Given the description of an element on the screen output the (x, y) to click on. 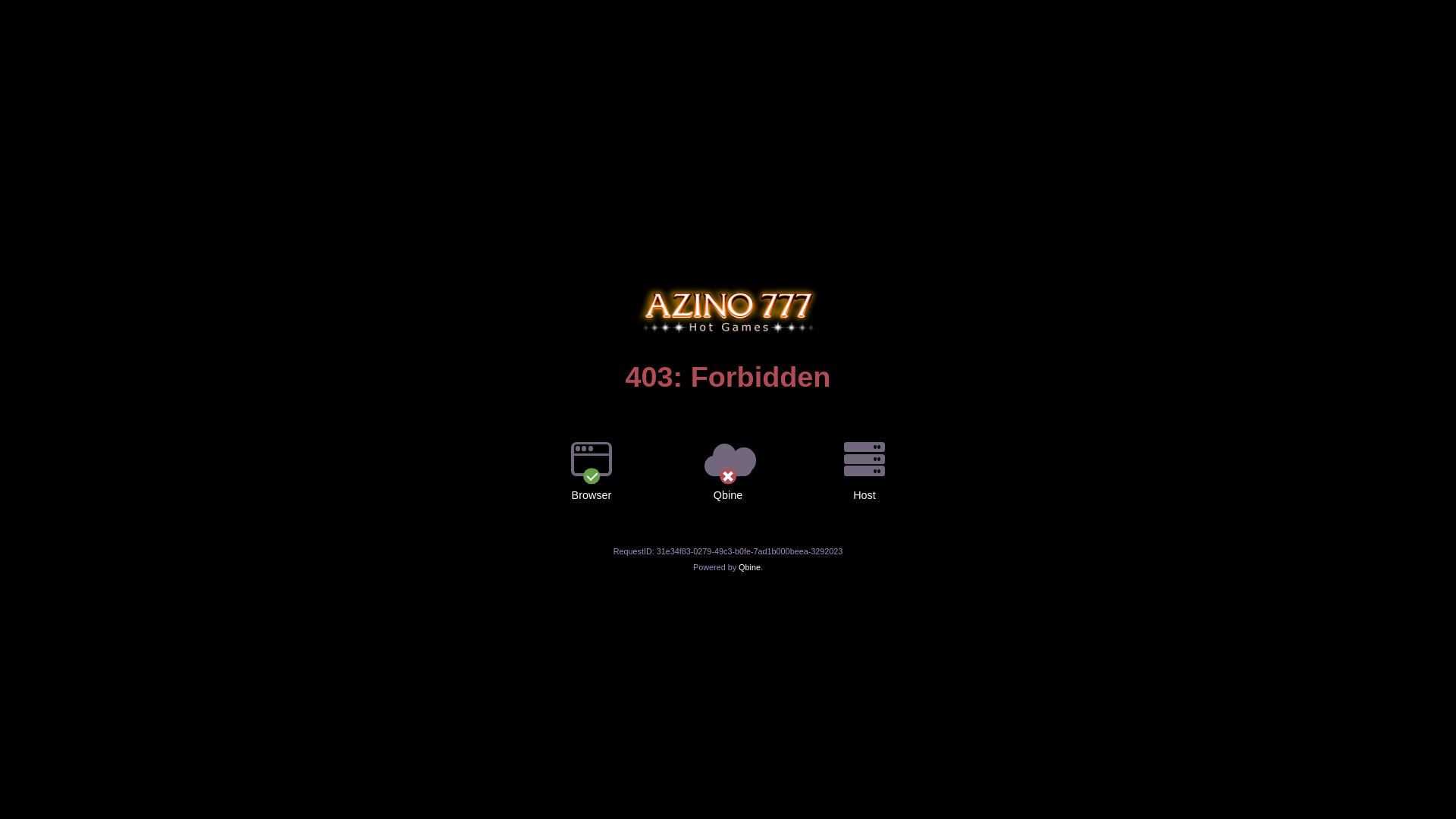
  Element type: text (727, 285)
Qbine Element type: text (749, 566)
